Given the description of an element on the screen output the (x, y) to click on. 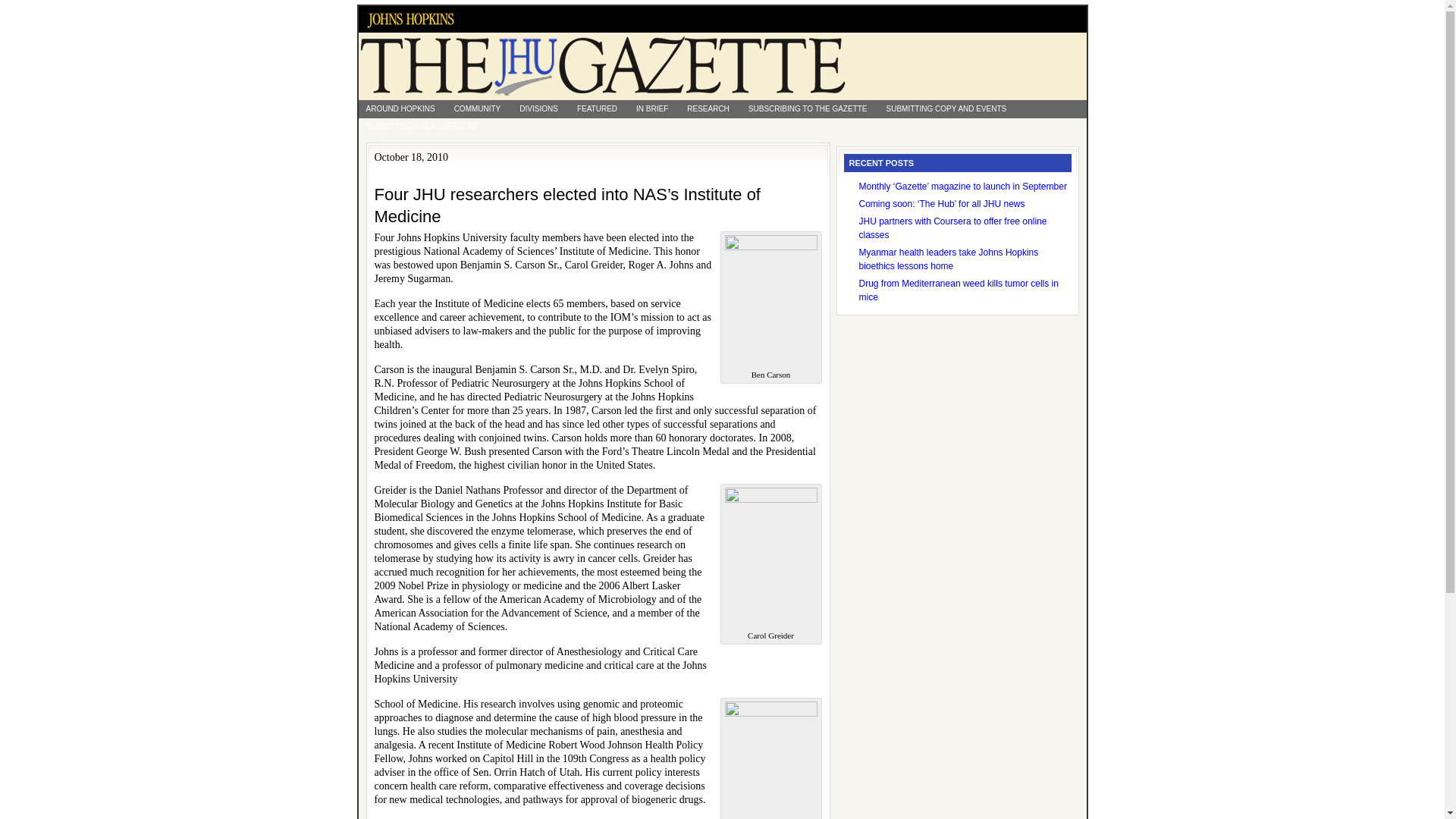
AROUND HOPKINS (400, 108)
FEATURED (596, 108)
IN BRIEF (651, 108)
DIVISIONS (539, 108)
RESEARCH (707, 108)
COMMUNITY (477, 108)
